Given the description of an element on the screen output the (x, y) to click on. 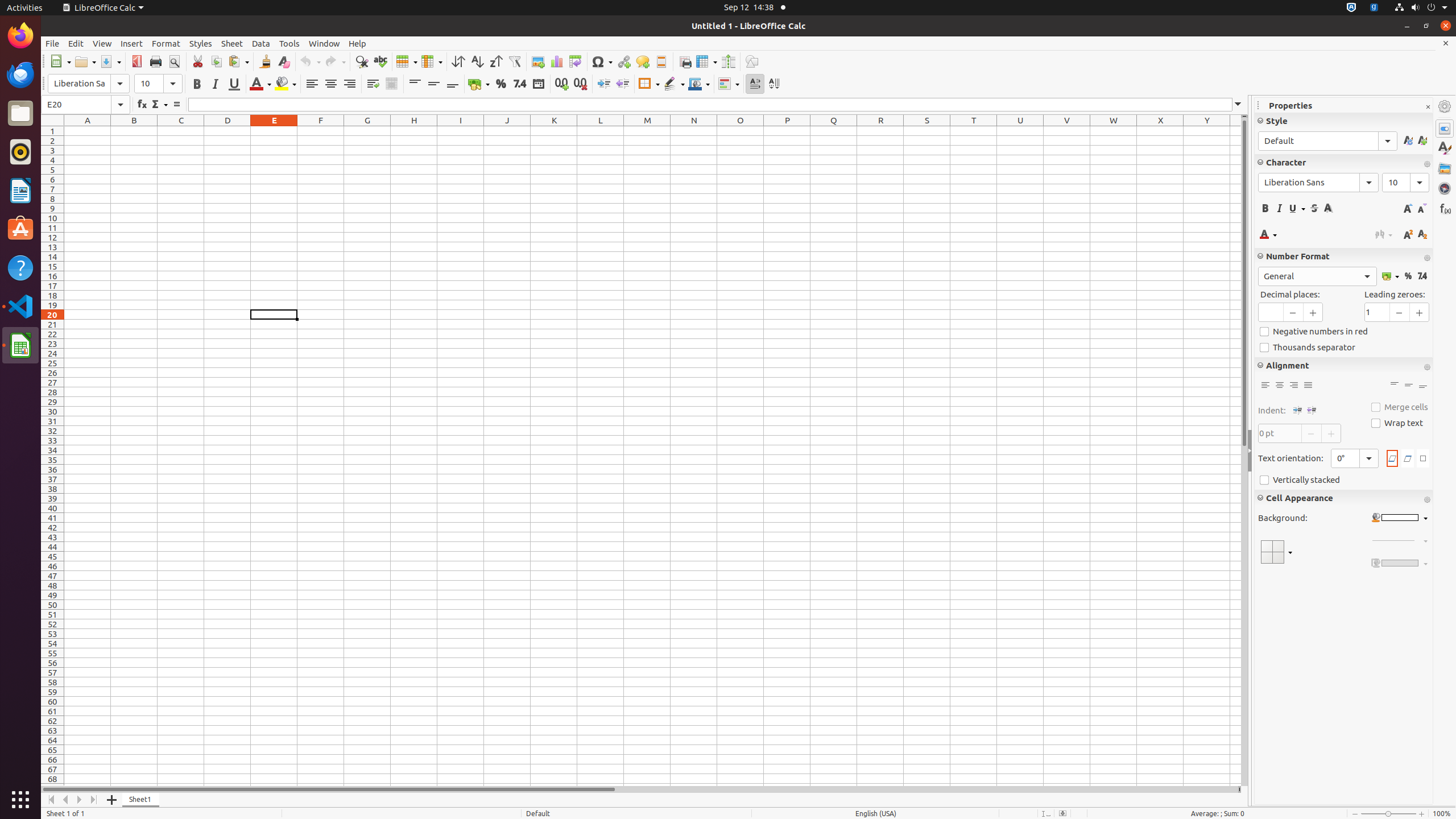
Z1 Element type: table-cell (1235, 130)
T1 Element type: table-cell (973, 130)
More Options Element type: toggle-button (1426, 367)
Vertically stacked Element type: check-box (1343, 479)
B1 Element type: table-cell (133, 130)
